Given the description of an element on the screen output the (x, y) to click on. 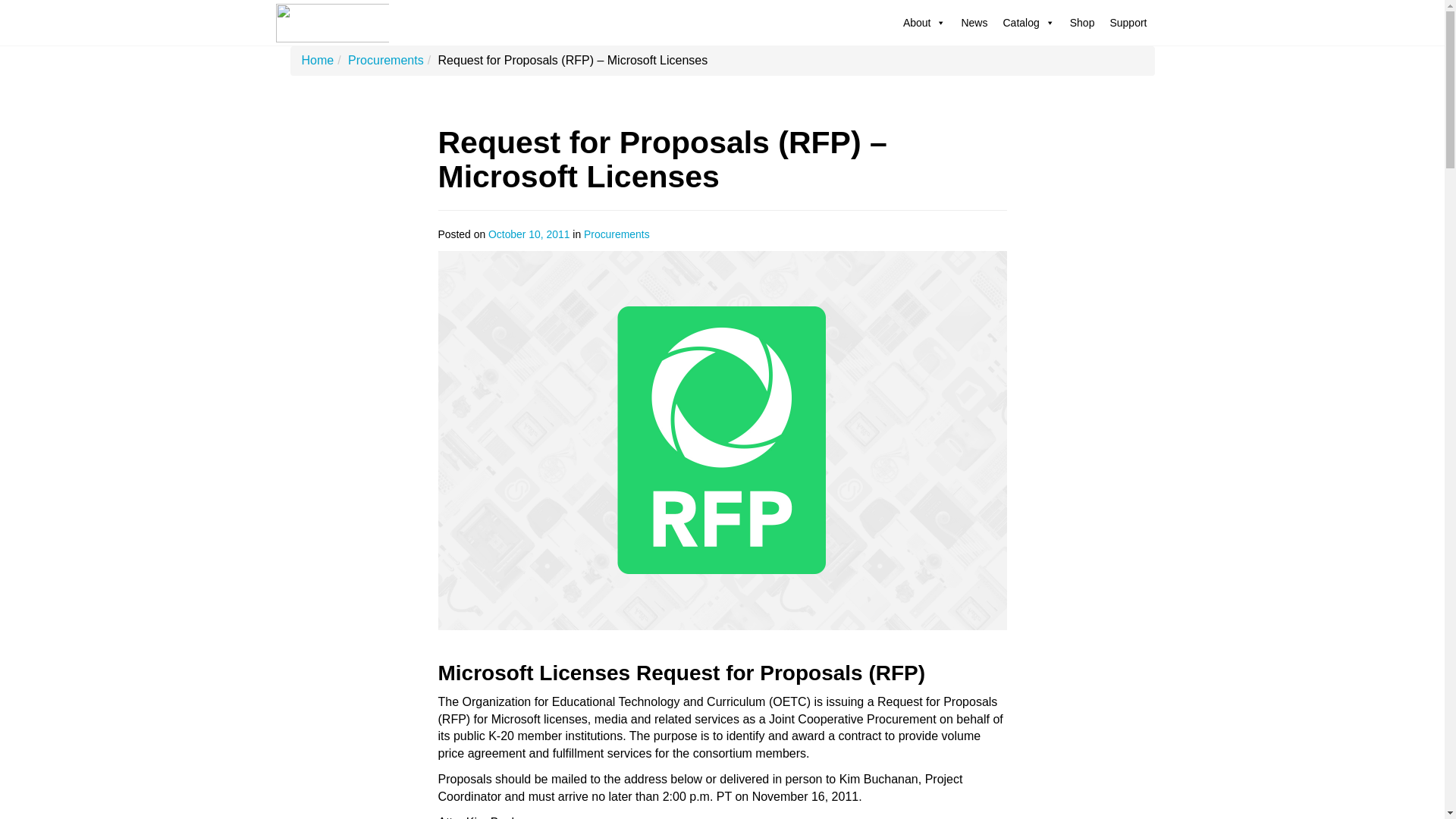
About (924, 22)
News (973, 22)
Catalog (1027, 22)
